Given the description of an element on the screen output the (x, y) to click on. 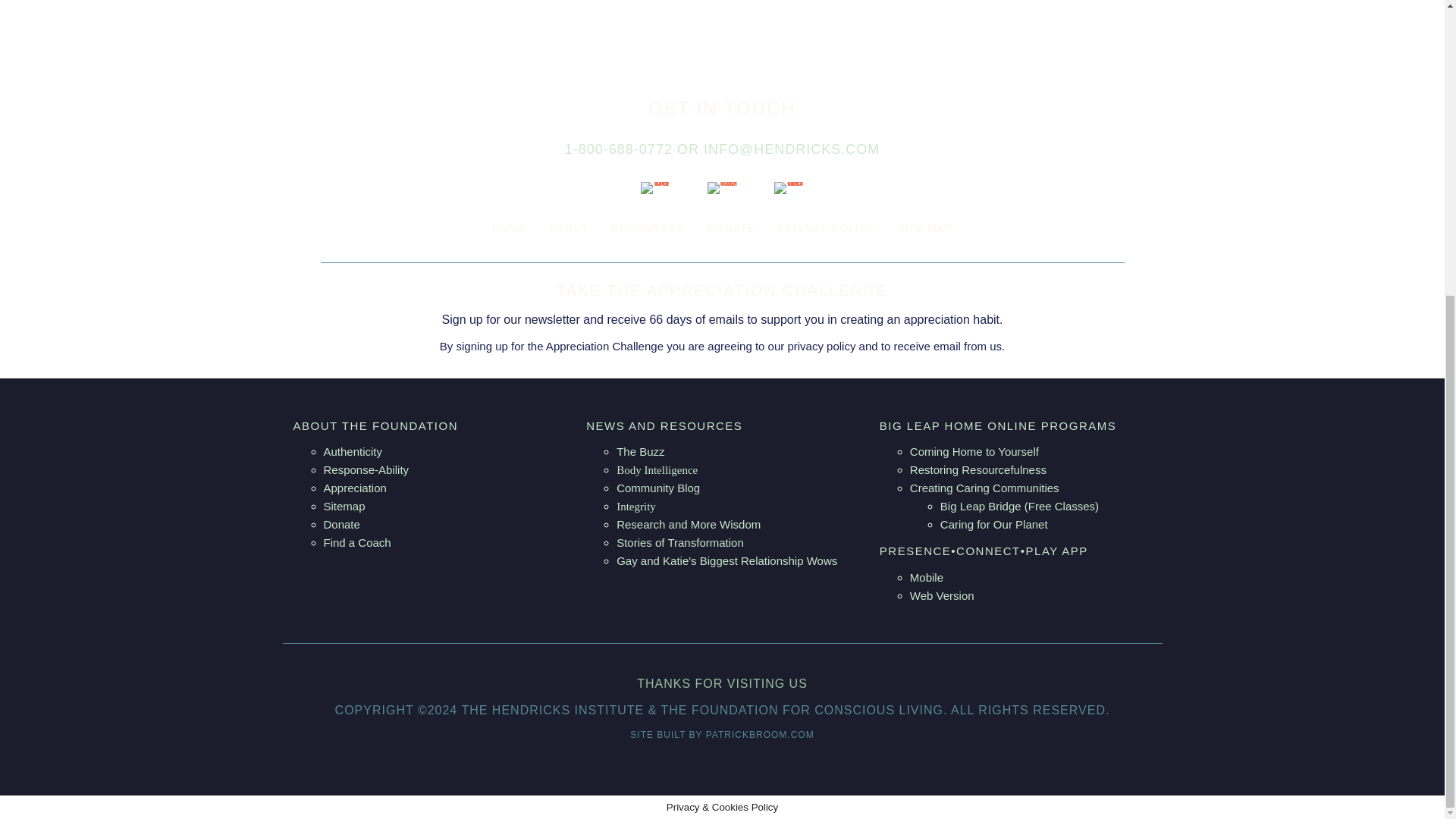
PRIVACY POLICY (826, 228)
Sitemap (344, 505)
Authenticity (352, 451)
The Buzz (639, 451)
Find a Coach (356, 542)
ABOUT THE FOUNDATION (375, 425)
ABOUT (567, 228)
Appreciation (354, 487)
Donate (341, 523)
NEWS AND RESOURCES (664, 425)
RESOURCES (647, 228)
HOME (508, 228)
SITE MAP (924, 228)
DONATE (730, 228)
Response-Ability (366, 469)
